Given the description of an element on the screen output the (x, y) to click on. 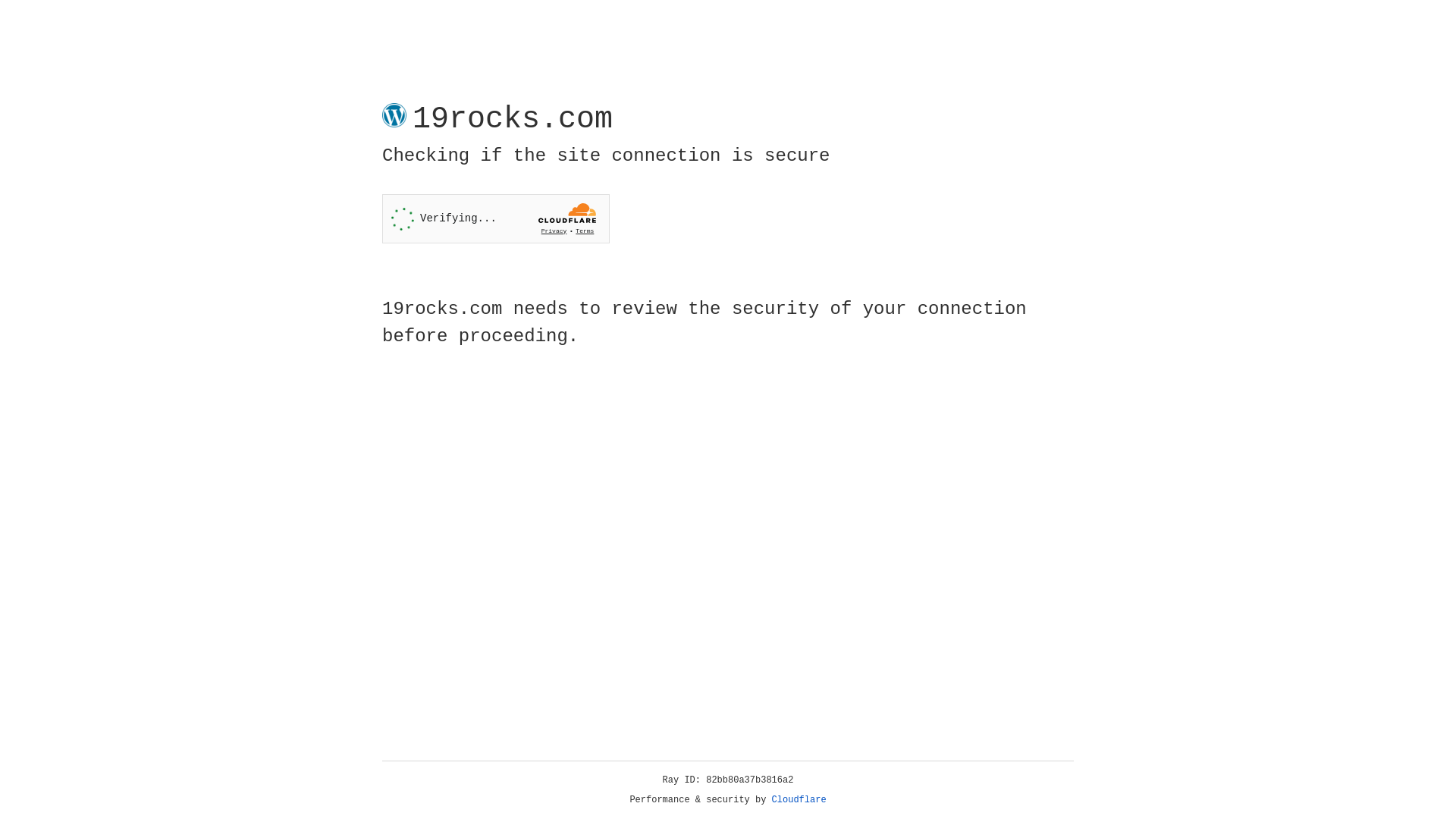
Widget containing a Cloudflare security challenge Element type: hover (495, 218)
Cloudflare Element type: text (798, 799)
